Given the description of an element on the screen output the (x, y) to click on. 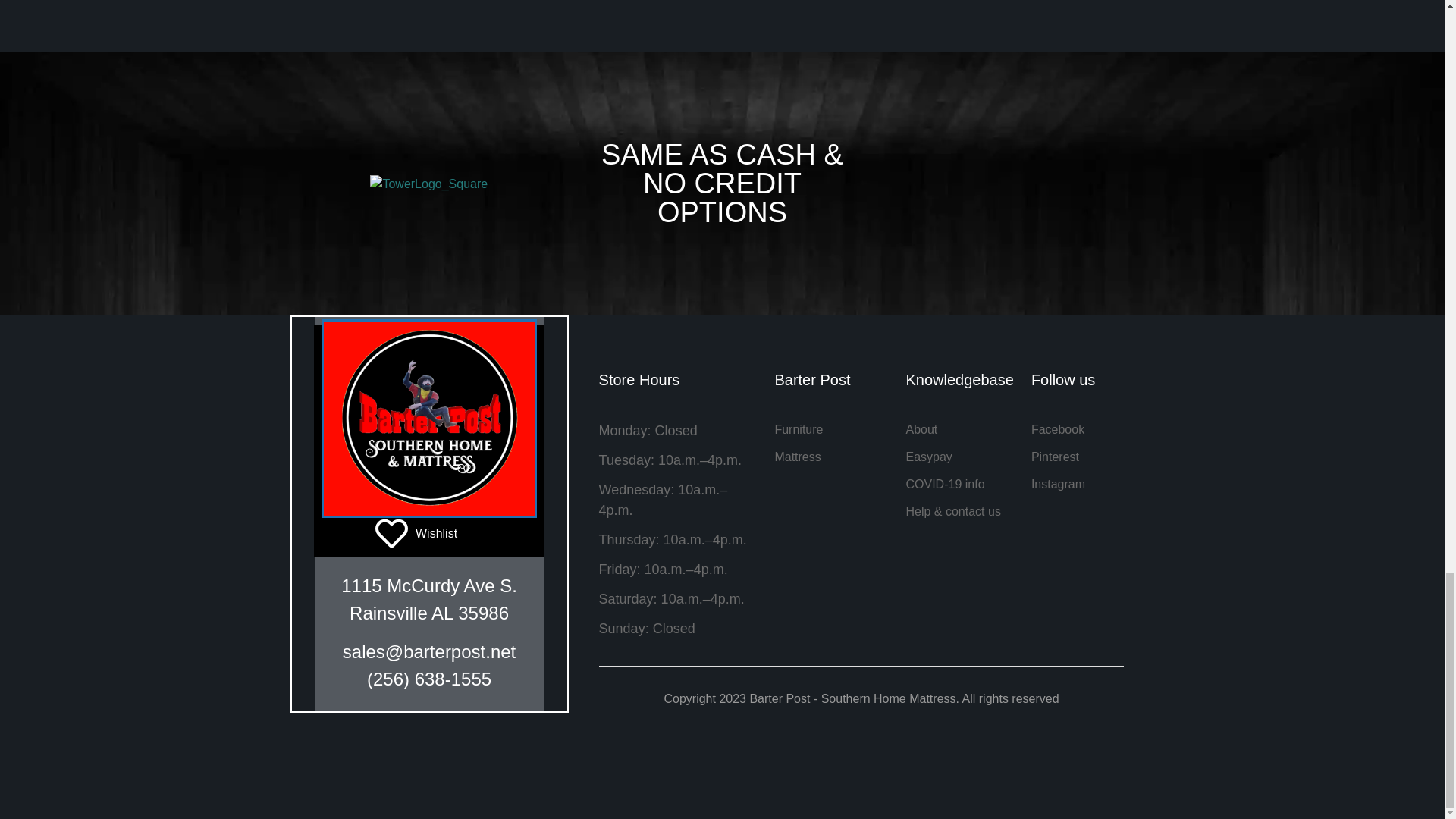
Store Hours (679, 388)
Follow us (1077, 388)
Wishlist (429, 541)
Barter Post (831, 388)
Knowledgebase (1077, 456)
Directions to Barter Post (831, 443)
